Given the description of an element on the screen output the (x, y) to click on. 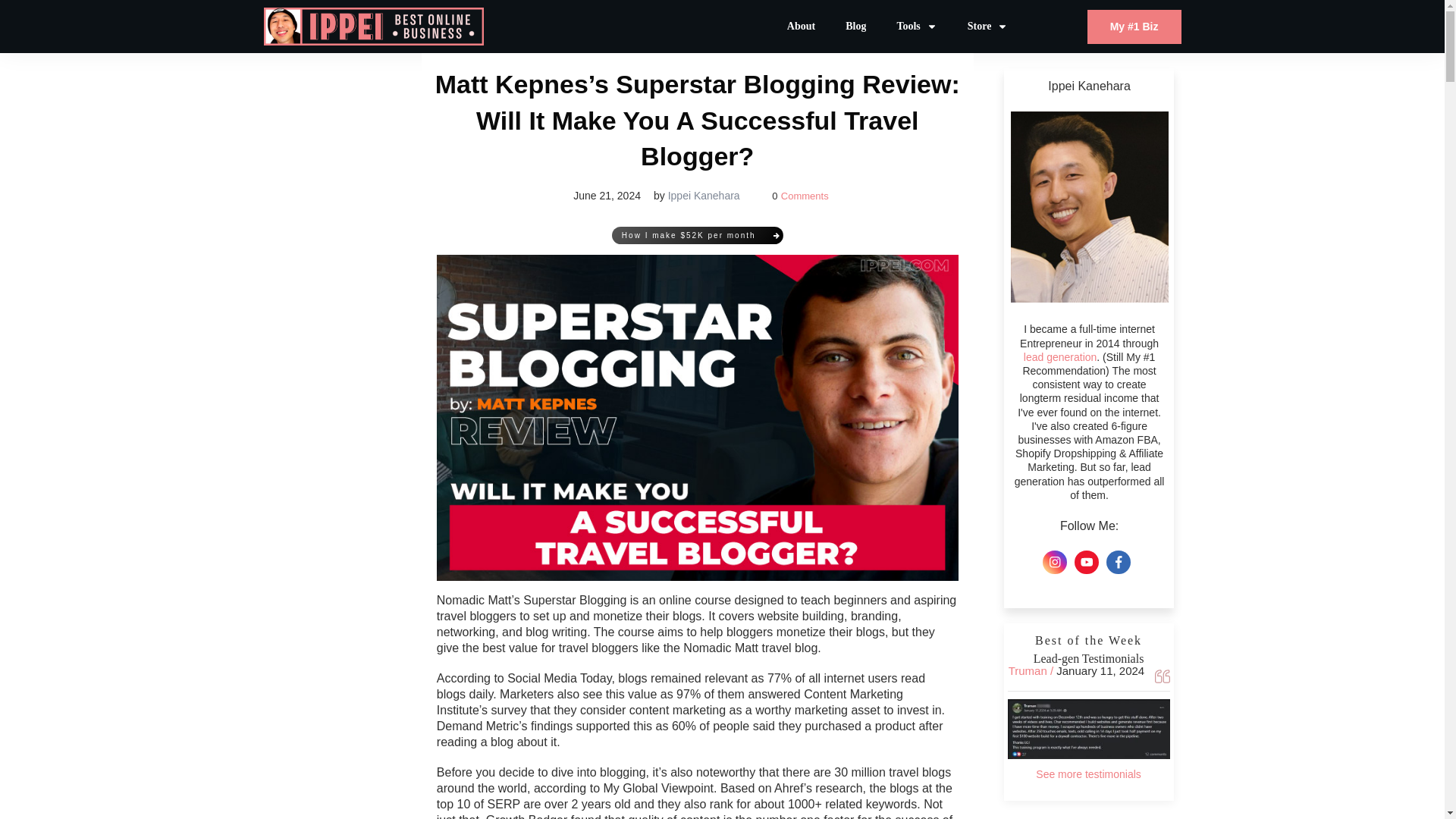
Blog (855, 25)
Comments (804, 195)
About (801, 25)
Store (988, 25)
lead generation (1060, 357)
Tools (916, 25)
Ippei Kanehara (703, 195)
Comments (804, 195)
See more testimonials (1088, 774)
